Given the description of an element on the screen output the (x, y) to click on. 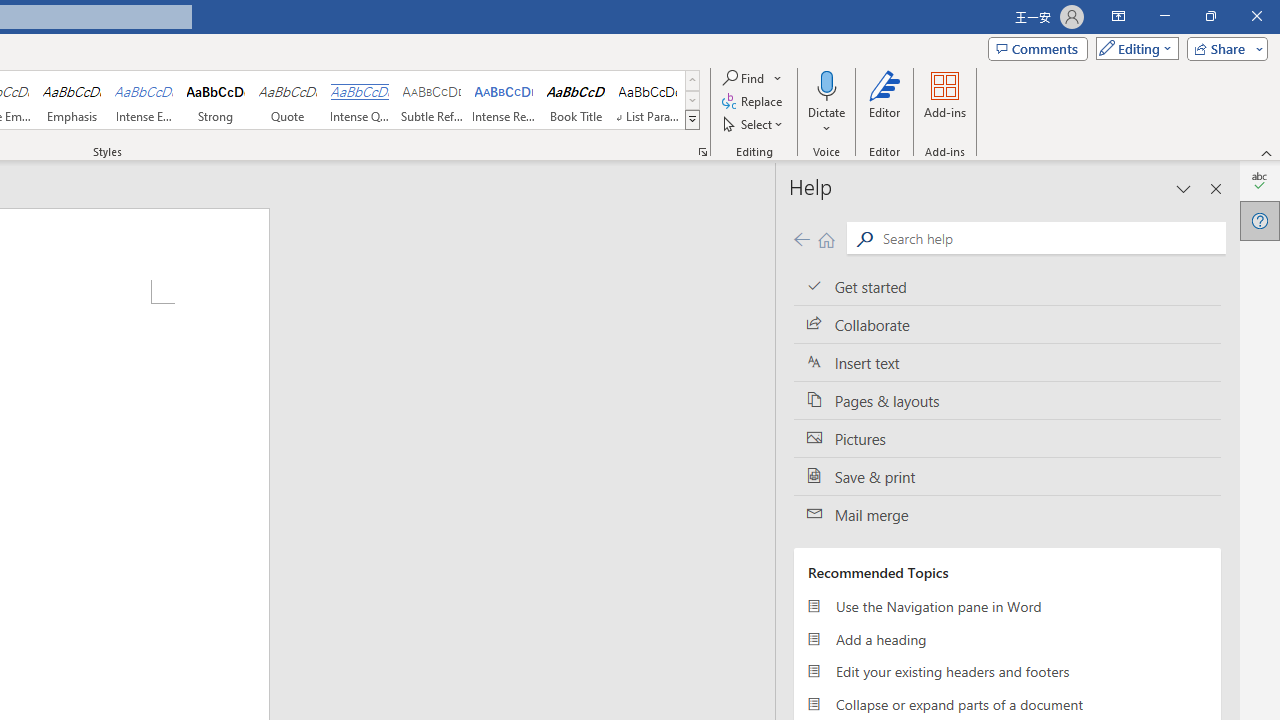
Minimize (1164, 16)
Dictate (826, 84)
Pictures (1007, 438)
Row Down (692, 100)
Subtle Reference (431, 100)
Task Pane Options (1183, 188)
Collapse or expand parts of a document (1007, 704)
Search (1049, 237)
Find (744, 78)
Ribbon Display Options (1118, 16)
Dictate (826, 102)
Intense Emphasis (143, 100)
Quote (287, 100)
Editor (885, 102)
Emphasis (71, 100)
